Given the description of an element on the screen output the (x, y) to click on. 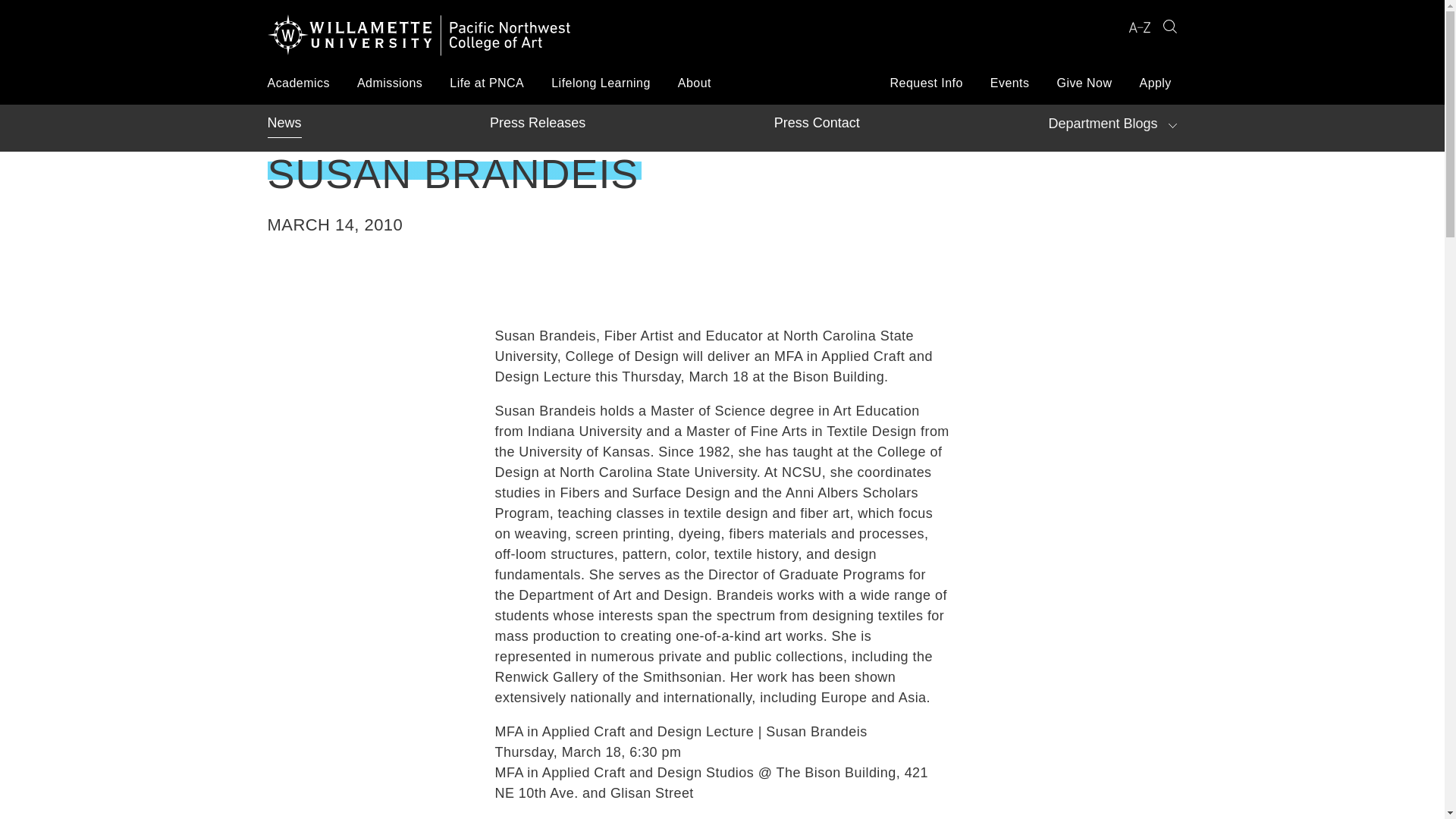
Created with Sketch. (1139, 26)
Search (1168, 27)
Academics (297, 83)
Group 2 (1168, 27)
Group 2 (1168, 26)
PNCA (418, 37)
